Given the description of an element on the screen output the (x, y) to click on. 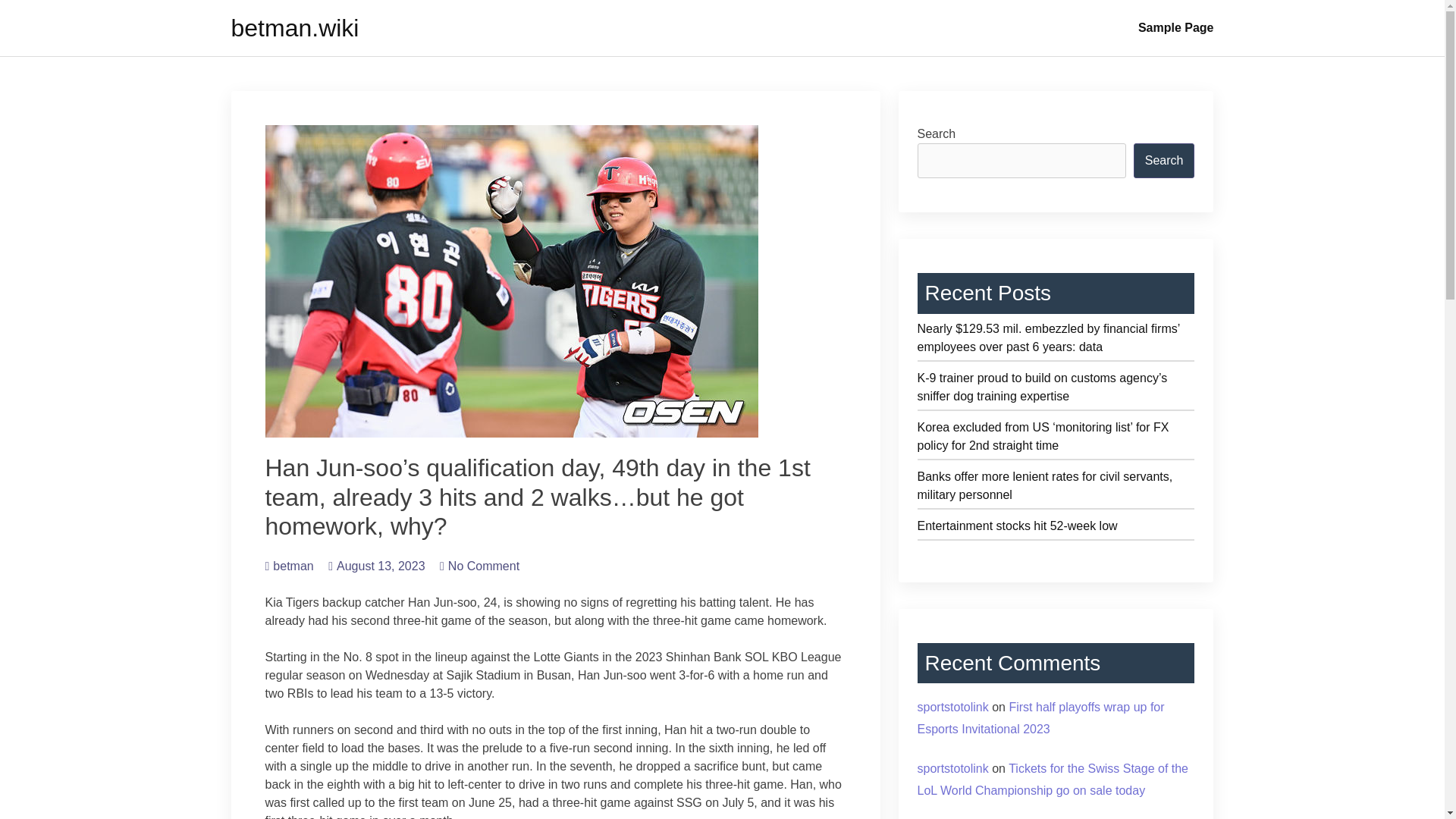
sportstotolink (952, 768)
sportstotolink (952, 707)
Sample Page (1175, 28)
Entertainment stocks hit 52-week low (1056, 528)
betman.wiki (294, 27)
No Comment (479, 565)
August 13, 2023 (377, 565)
Search (1164, 160)
First half playoffs wrap up for Esports Invitational 2023 (1040, 718)
betman (289, 565)
